Given the description of an element on the screen output the (x, y) to click on. 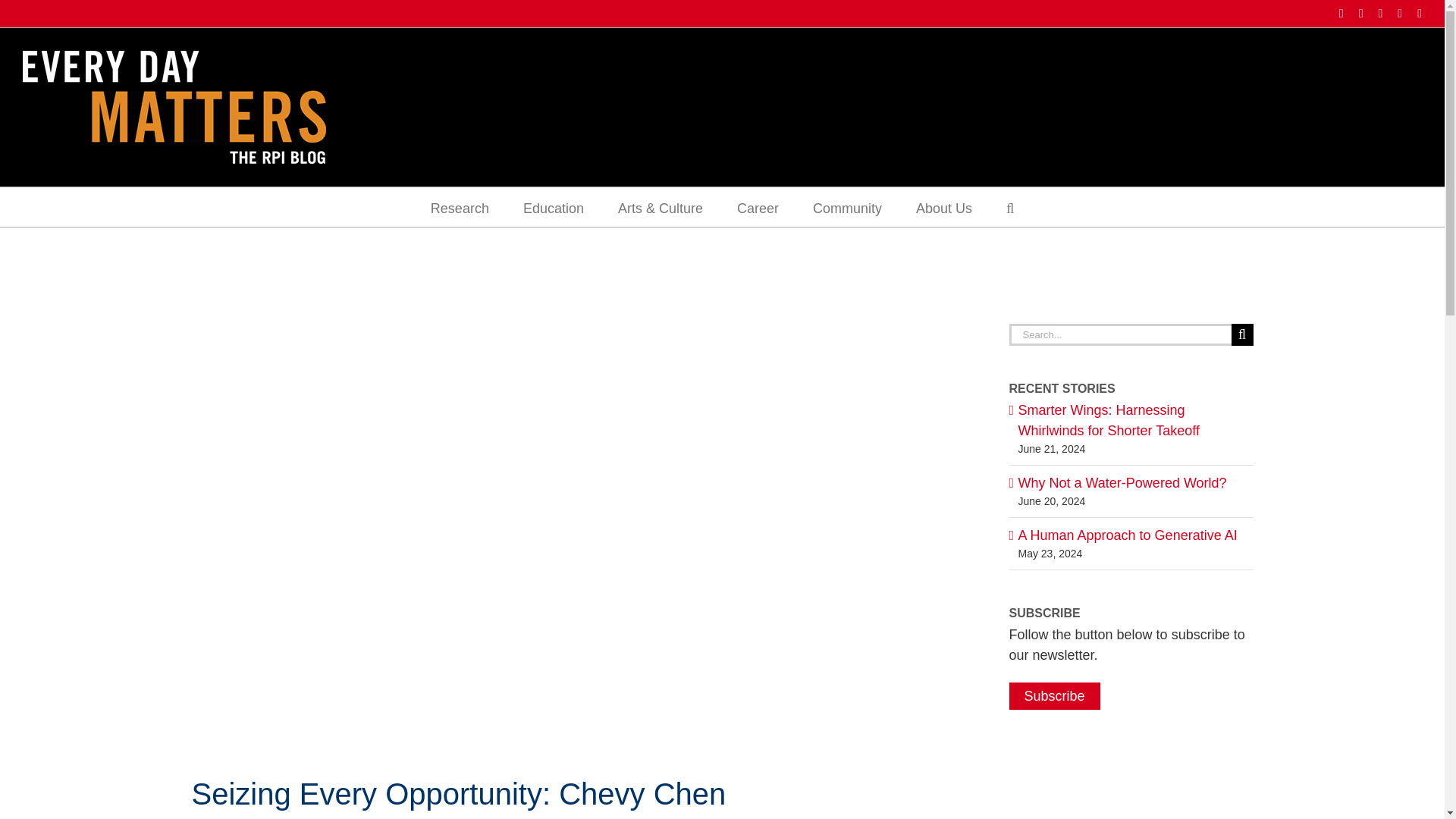
Community (847, 206)
About Us (943, 206)
Research (459, 206)
Education (552, 206)
Career (757, 206)
